Given the description of an element on the screen output the (x, y) to click on. 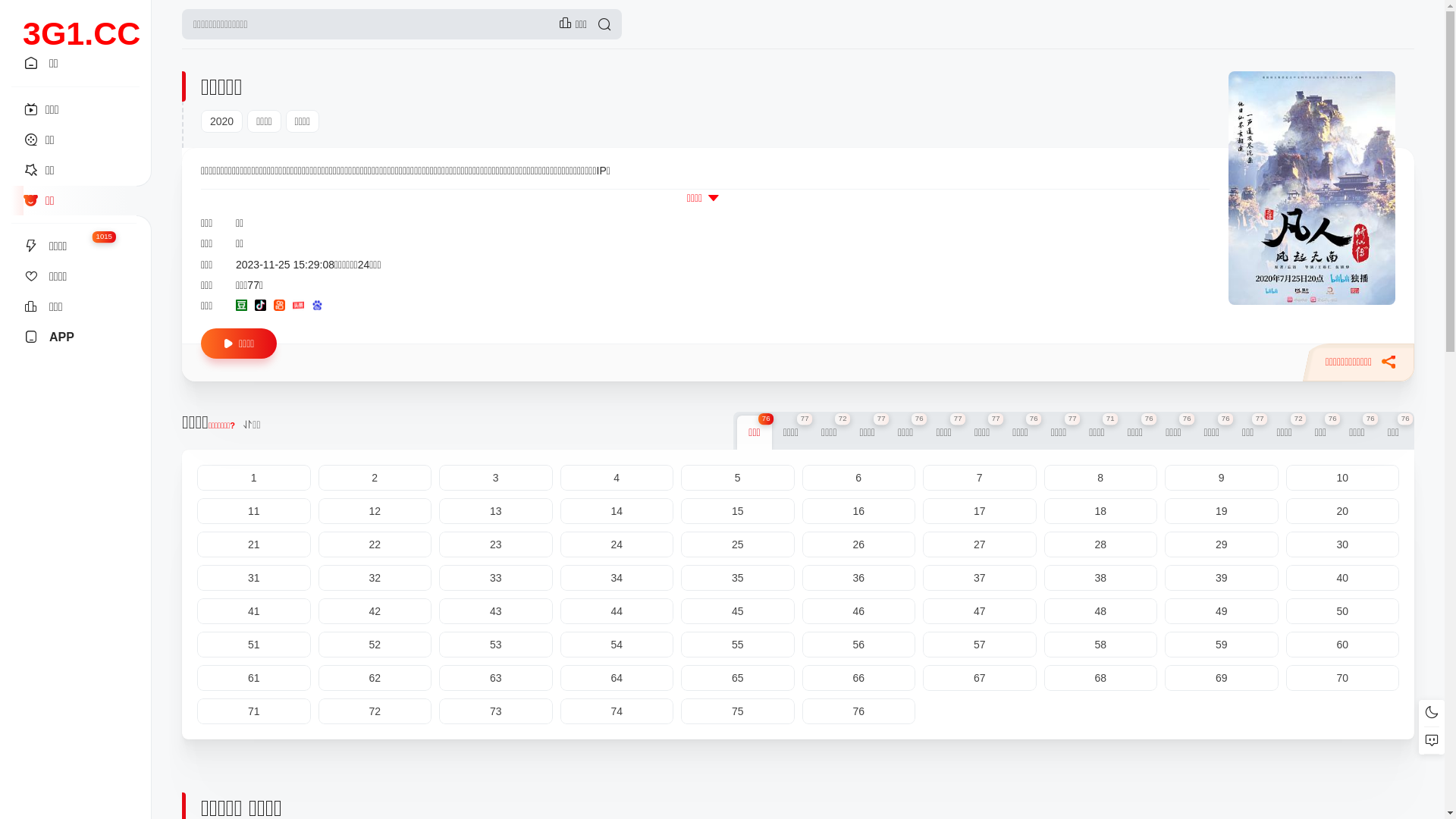
18 Element type: text (1100, 511)
13 Element type: text (495, 511)
61 Element type: text (253, 677)
53 Element type: text (495, 644)
71 Element type: text (253, 711)
45 Element type: text (737, 611)
8 Element type: text (1100, 477)
54 Element type: text (616, 644)
APP Element type: text (75, 337)
66 Element type: text (859, 677)
20 Element type: text (1342, 511)
31 Element type: text (253, 577)
56 Element type: text (859, 644)
38 Element type: text (1100, 577)
49 Element type: text (1221, 611)
22 Element type: text (375, 544)
26 Element type: text (859, 544)
23 Element type: text (495, 544)
55 Element type: text (737, 644)
12 Element type: text (375, 511)
40 Element type: text (1342, 577)
6 Element type: text (859, 477)
47 Element type: text (979, 611)
5 Element type: text (737, 477)
25 Element type: text (737, 544)
63 Element type: text (495, 677)
69 Element type: text (1221, 677)
72 Element type: text (375, 711)
19 Element type: text (1221, 511)
39 Element type: text (1221, 577)
30 Element type: text (1342, 544)
65 Element type: text (737, 677)
14 Element type: text (616, 511)
42 Element type: text (375, 611)
48 Element type: text (1100, 611)
21 Element type: text (253, 544)
51 Element type: text (253, 644)
27 Element type: text (979, 544)
9 Element type: text (1221, 477)
50 Element type: text (1342, 611)
58 Element type: text (1100, 644)
46 Element type: text (859, 611)
75 Element type: text (737, 711)
29 Element type: text (1221, 544)
57 Element type: text (979, 644)
10 Element type: text (1342, 477)
4 Element type: text (616, 477)
52 Element type: text (375, 644)
67 Element type: text (979, 677)
28 Element type: text (1100, 544)
7 Element type: text (979, 477)
3G1.CC Element type: text (81, 16)
43 Element type: text (495, 611)
60 Element type: text (1342, 644)
33 Element type: text (495, 577)
15 Element type: text (737, 511)
44 Element type: text (616, 611)
2 Element type: text (375, 477)
68 Element type: text (1100, 677)
35 Element type: text (737, 577)
3 Element type: text (495, 477)
41 Element type: text (253, 611)
59 Element type: text (1221, 644)
62 Element type: text (375, 677)
74 Element type: text (616, 711)
11 Element type: text (253, 511)
34 Element type: text (616, 577)
1 Element type: text (253, 477)
37 Element type: text (979, 577)
64 Element type: text (616, 677)
76 Element type: text (859, 711)
73 Element type: text (495, 711)
32 Element type: text (375, 577)
70 Element type: text (1342, 677)
36 Element type: text (859, 577)
24 Element type: text (616, 544)
16 Element type: text (859, 511)
2020 Element type: text (221, 121)
17 Element type: text (979, 511)
